Given the description of an element on the screen output the (x, y) to click on. 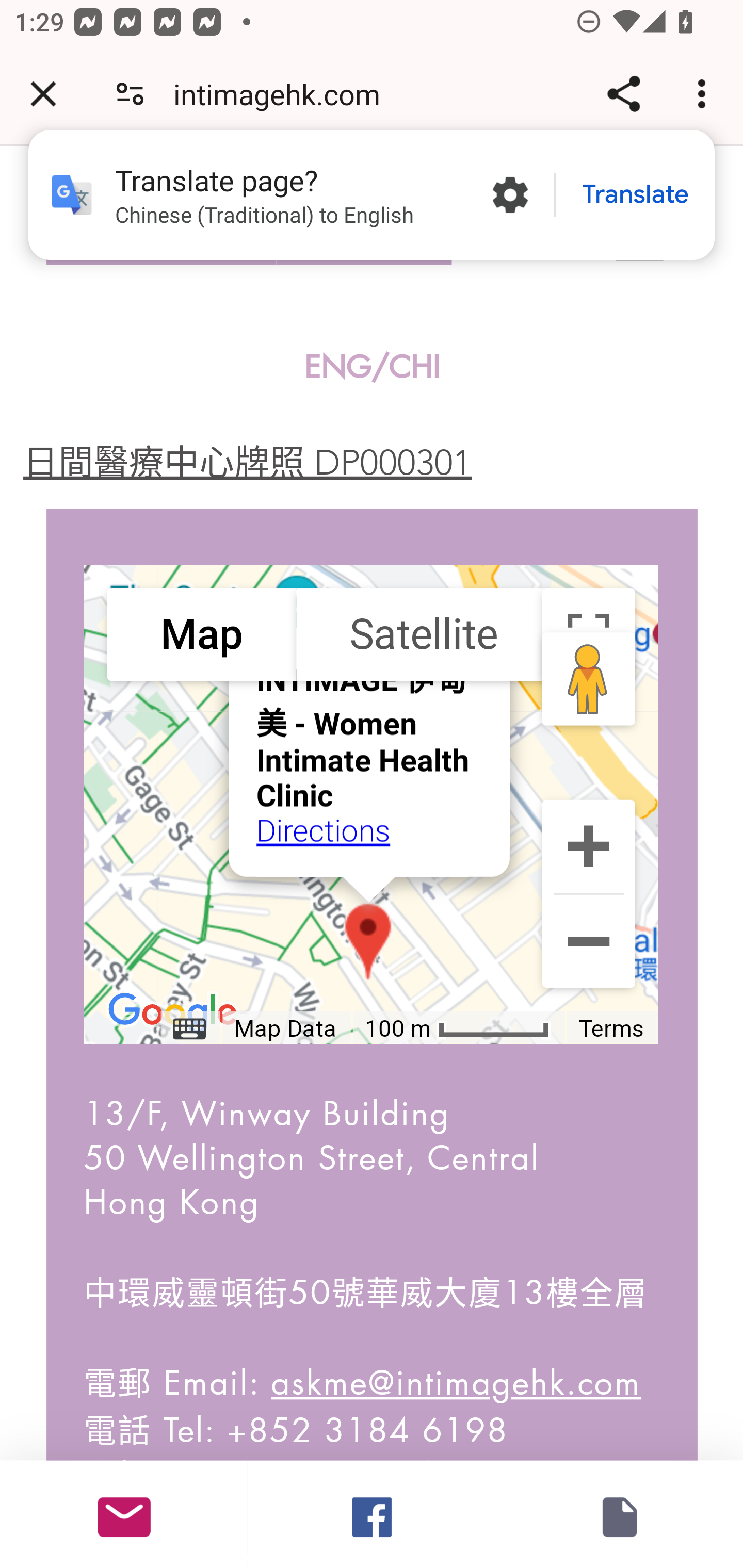
Close tab (43, 93)
Share (623, 93)
Customize and control Google Chrome (705, 93)
Connection is secure (129, 93)
intimagehk.com (283, 93)
Translate (634, 195)
More options in the Translate page? (509, 195)
ENG/CHI (372, 367)
日間醫療中心牌照 DP000301 (247, 462)
+852 3184 6198 (366, 1429)
Email (124, 1513)
Facebook (371, 1513)
Book Consultation (618, 1513)
